Given the description of an element on the screen output the (x, y) to click on. 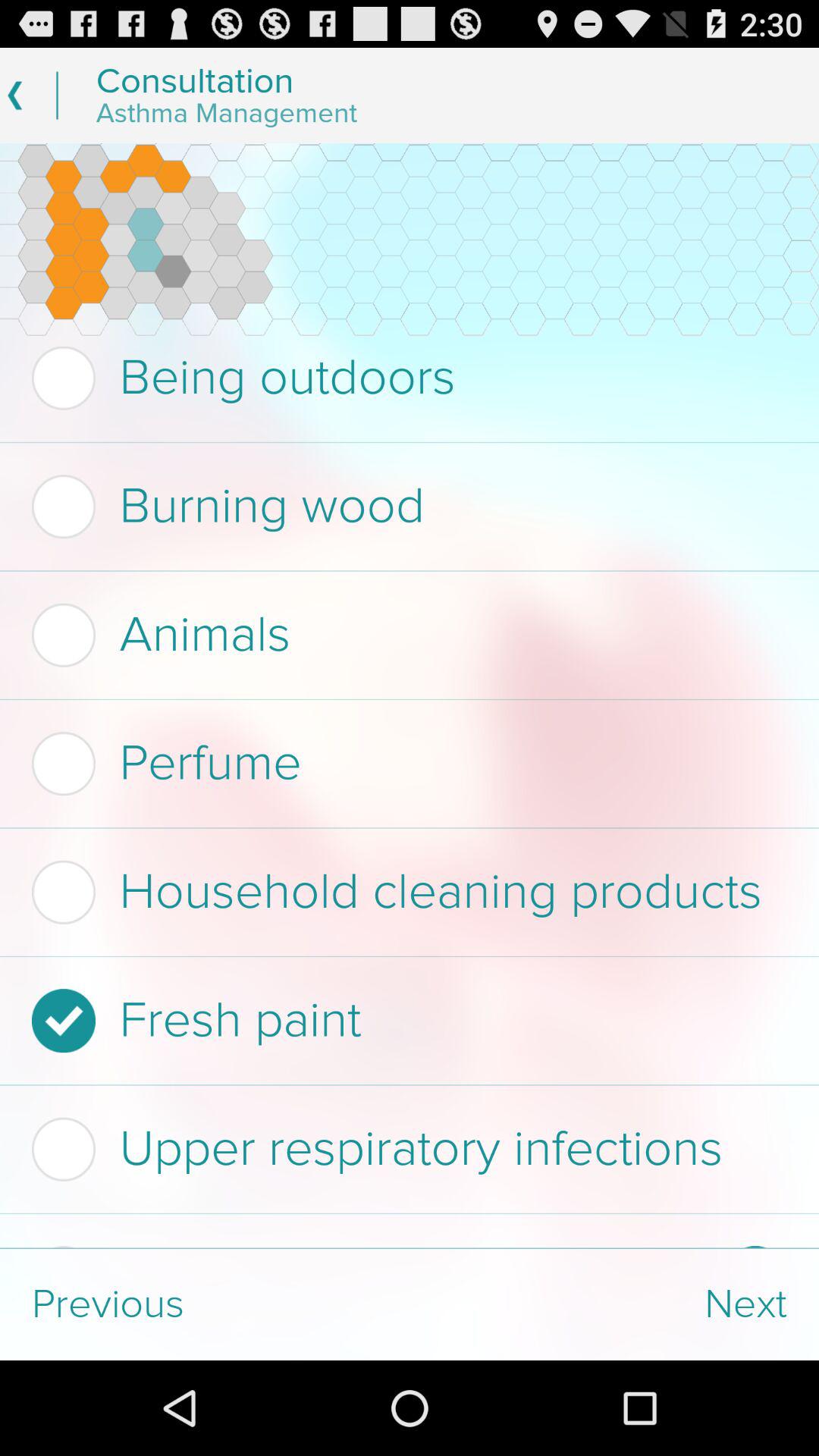
launch the item above the burning wood (405, 378)
